Given the description of an element on the screen output the (x, y) to click on. 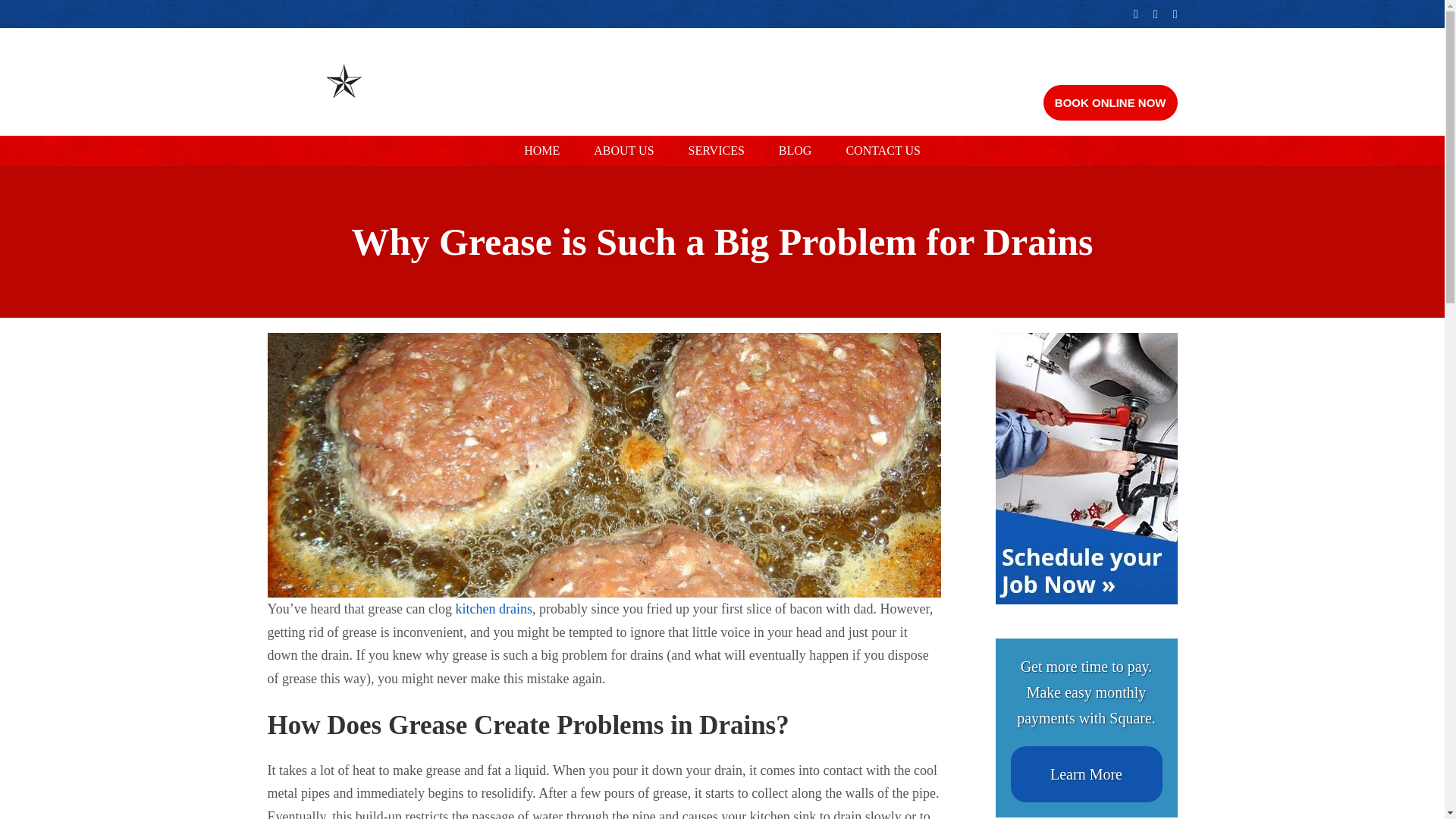
SERVICES (716, 150)
Instagram (1175, 14)
Instagram (1175, 14)
Facebook (1136, 14)
HOME (541, 150)
ABOUT US (623, 150)
BOOK ONLINE NOW (1110, 102)
Facebook (1136, 14)
Yelp (1155, 14)
Yelp (1155, 14)
